Given the description of an element on the screen output the (x, y) to click on. 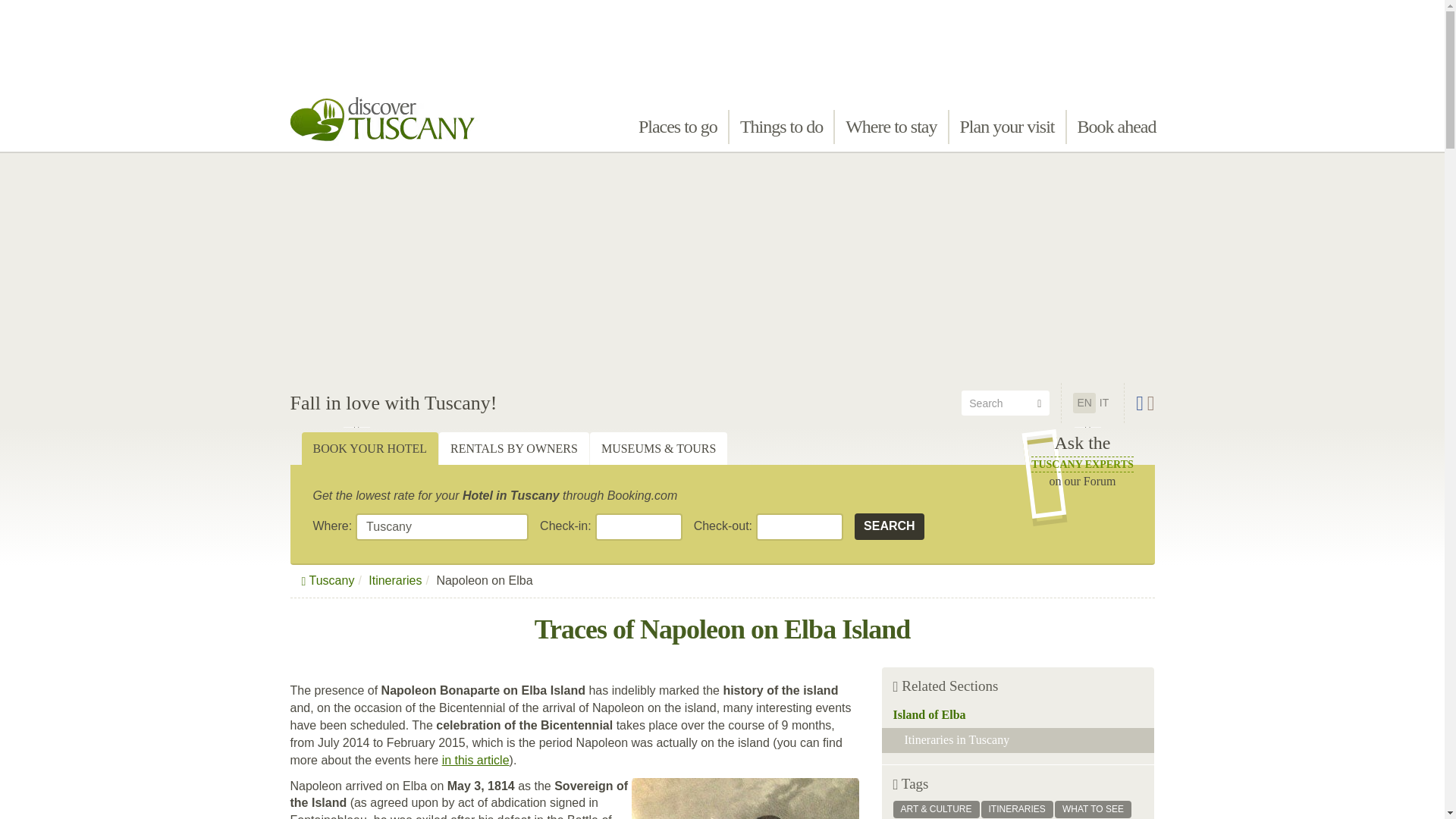
Tuscany (441, 526)
City, Region, Country, Landmark, Hotel, District (441, 526)
Search (889, 526)
Napoleon on Elba - English (1083, 402)
